Given the description of an element on the screen output the (x, y) to click on. 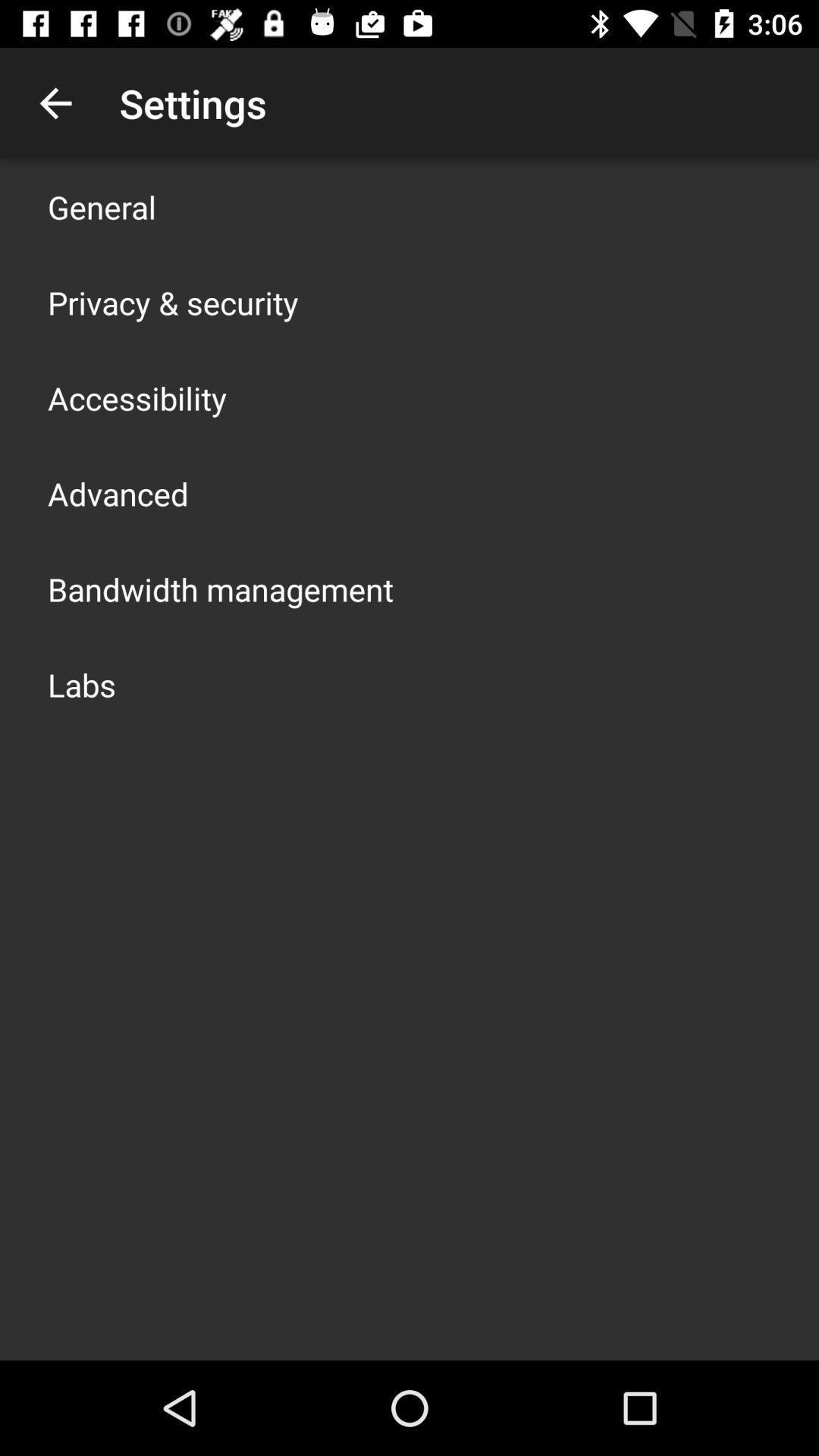
jump to accessibility item (136, 397)
